Given the description of an element on the screen output the (x, y) to click on. 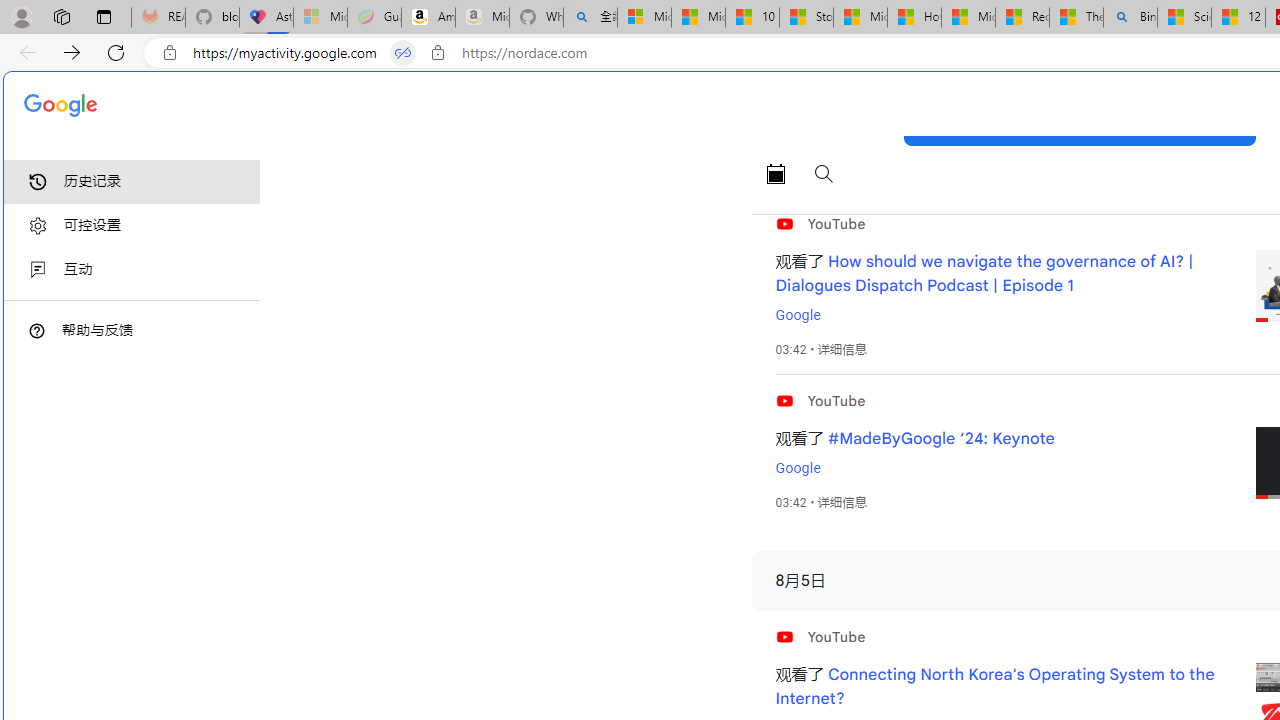
How I Got Rid of Microsoft Edge's Unnecessary Features (914, 17)
Stocks - MSN (806, 17)
Bing (1130, 17)
Connecting North Korea's Operating System to the Internet? (994, 687)
Asthma Inhalers: Names and Types (266, 17)
Microsoft account | Privacy (644, 17)
